Given the description of an element on the screen output the (x, y) to click on. 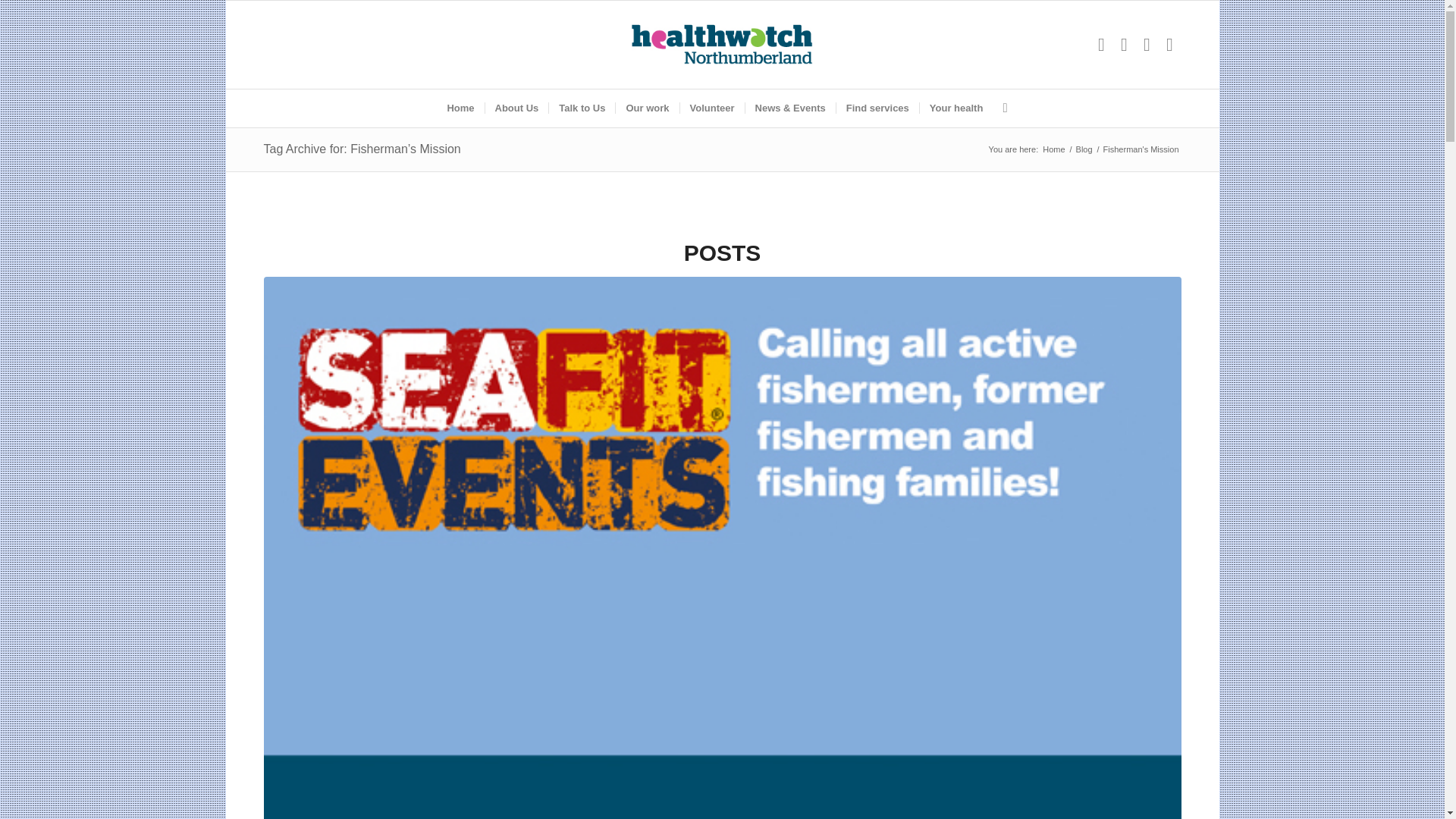
Talk to Us (581, 108)
Our work (646, 108)
Find services (876, 108)
Volunteer (711, 108)
About Us (515, 108)
Home (459, 108)
weblogo (722, 44)
